Given the description of an element on the screen output the (x, y) to click on. 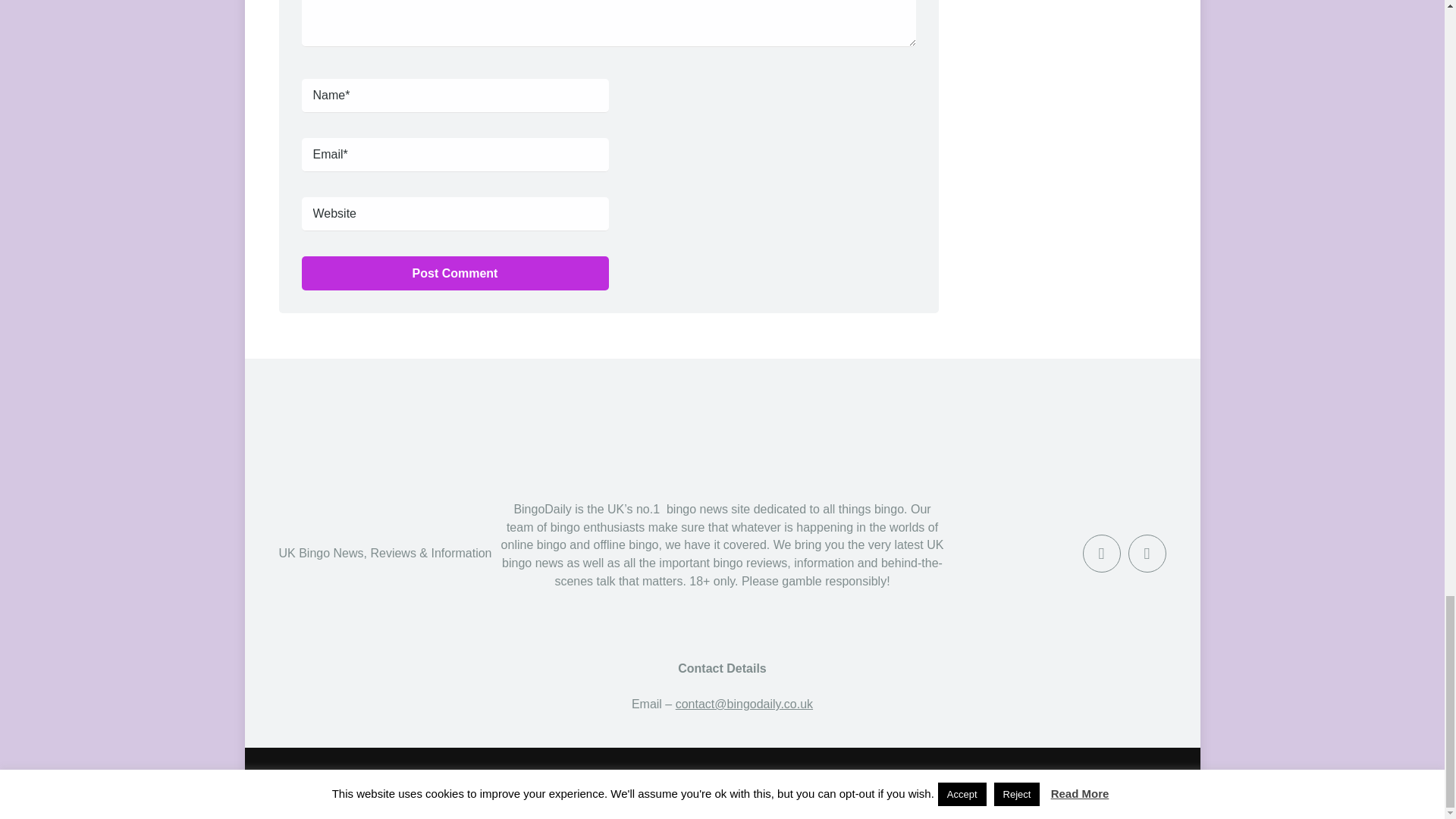
Post Comment (454, 273)
Twitter (1147, 553)
Post Comment (454, 273)
Facebook (1102, 553)
